Given the description of an element on the screen output the (x, y) to click on. 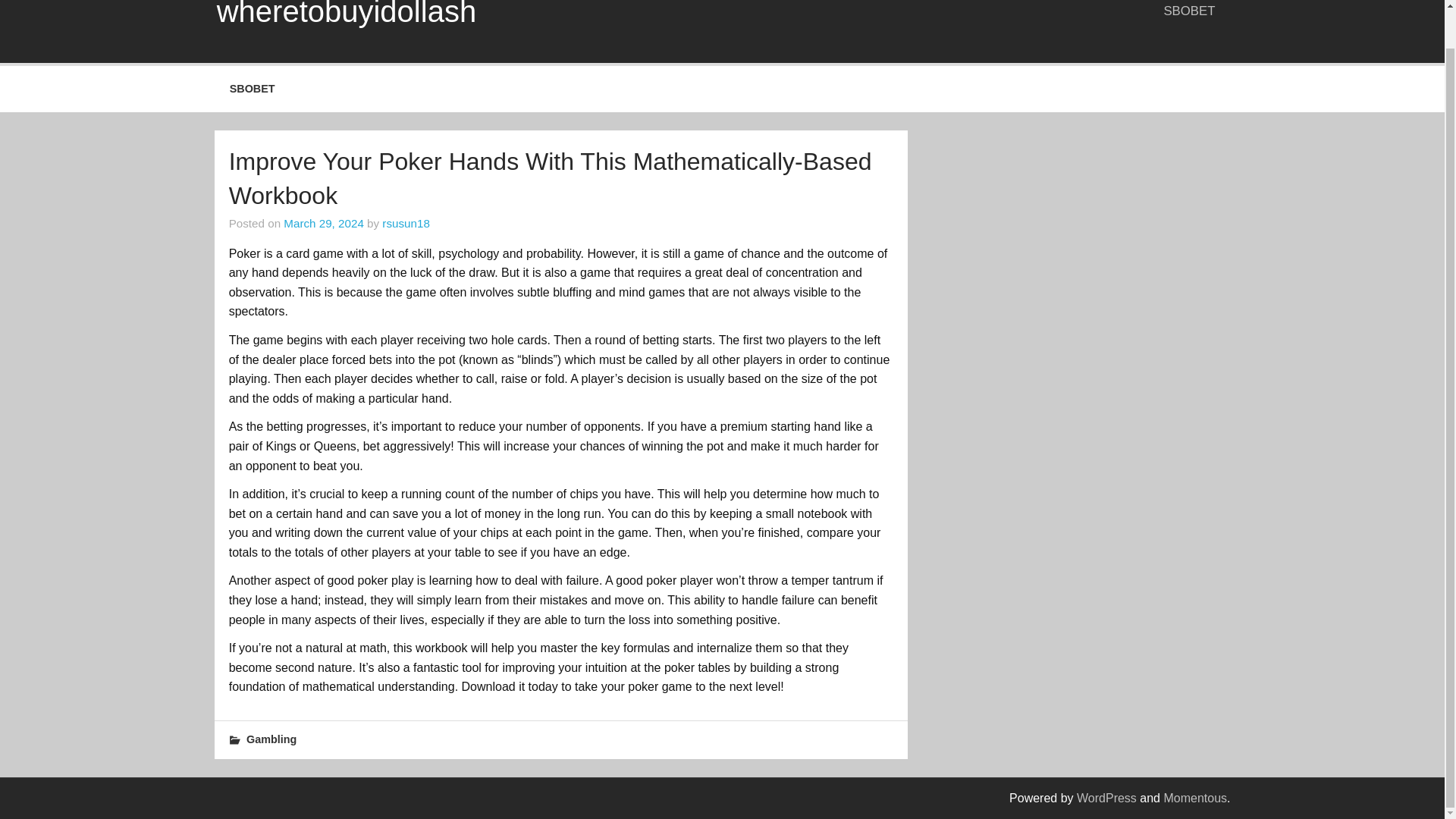
WordPress (1107, 797)
WordPress (1107, 797)
March 29, 2024 (323, 223)
Momentous WordPress Theme (1195, 797)
View all posts by rsusun18 (405, 223)
SBOBET (1189, 13)
Gambling (271, 739)
rsusun18 (405, 223)
wheretobuyidollash (346, 13)
10:34 pm (323, 223)
